Given the description of an element on the screen output the (x, y) to click on. 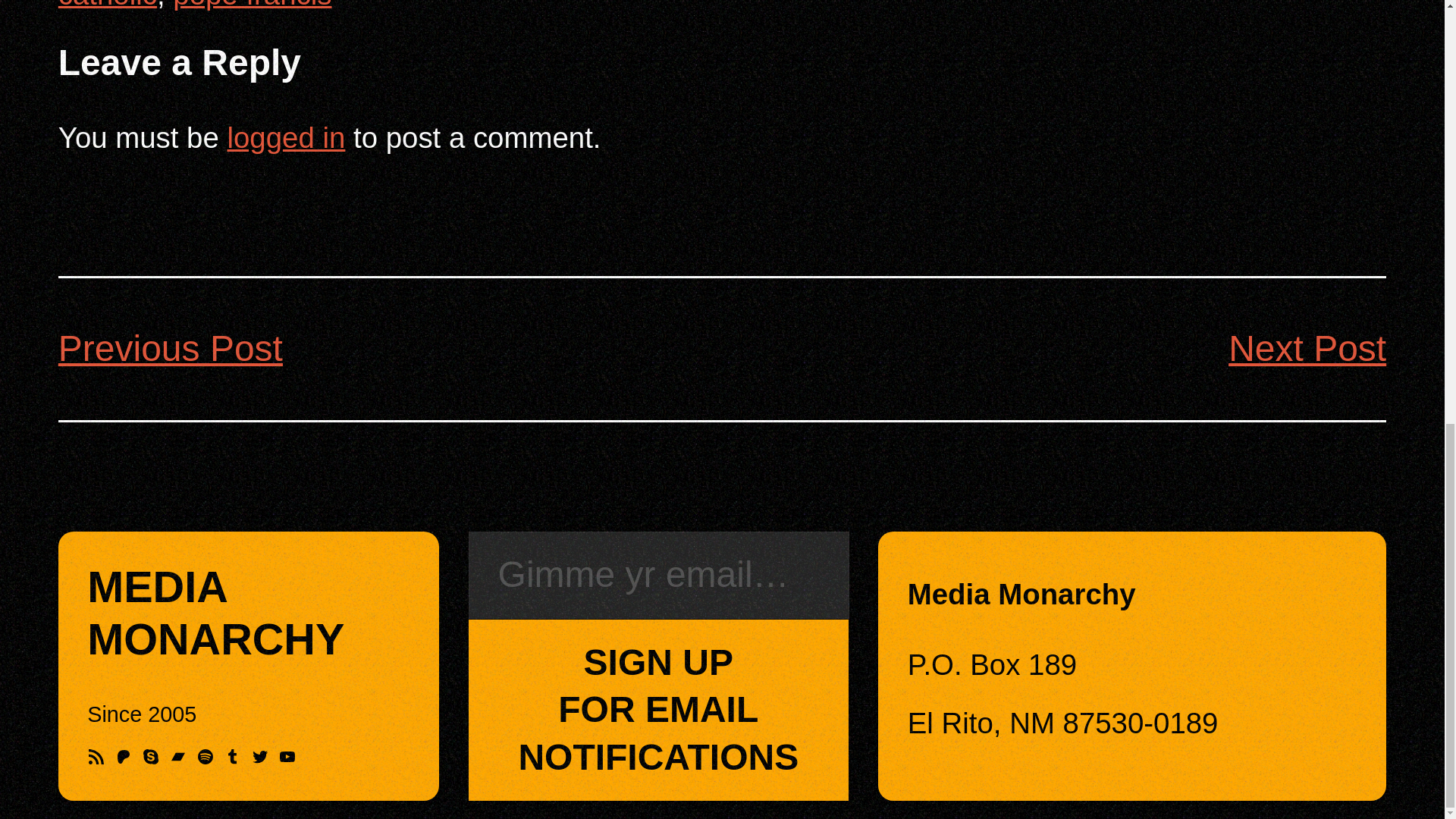
Bandcamp (177, 756)
pope francis (252, 5)
Previous Post (170, 348)
MEDIA MONARCHY (215, 612)
RSS Feed (95, 756)
Patreon (123, 756)
Twitter (259, 756)
catholic (107, 5)
Skype (150, 756)
YouTube (287, 756)
Please fill in this field. (658, 574)
Tumblr (232, 756)
Spotify (205, 756)
Next Post (1307, 348)
logged in (286, 137)
